Given the description of an element on the screen output the (x, y) to click on. 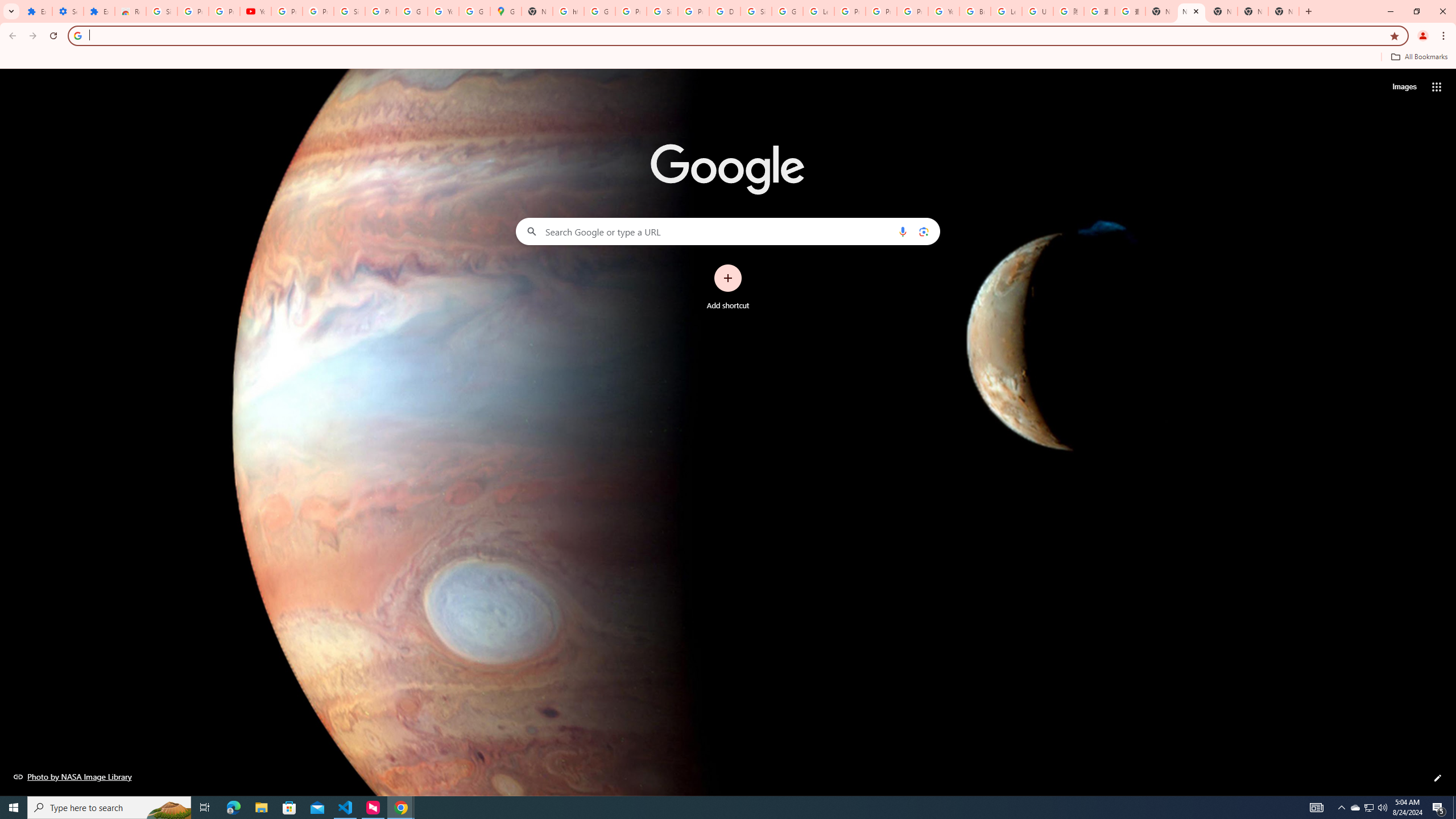
https://scholar.google.com/ (568, 11)
Privacy Help Center - Policies Help (849, 11)
